Given the description of an element on the screen output the (x, y) to click on. 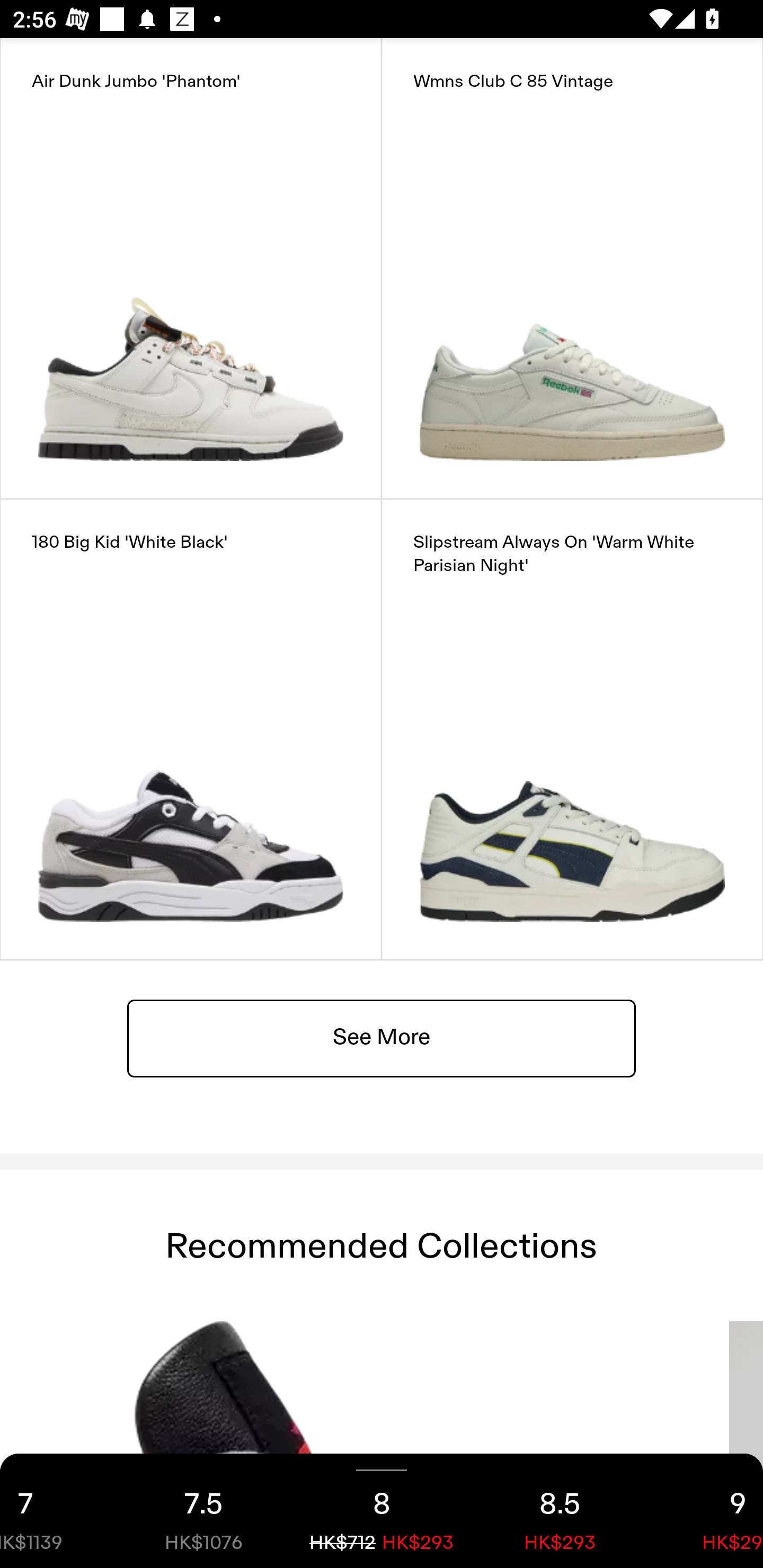
Air Dunk Jumbo 'Phantom' (190, 267)
Wmns Club C 85 Vintage (572, 267)
180 Big Kid 'White Black' (190, 728)
Slipstream Always On 'Warm White Parisian Night' (572, 728)
See More (381, 1037)
7 HK$1139 (57, 1510)
7.5 HK$1076 (203, 1510)
8 HK$712 HK$293 (381, 1510)
8.5 HK$293 (559, 1510)
9 HK$293 (705, 1510)
